Given the description of an element on the screen output the (x, y) to click on. 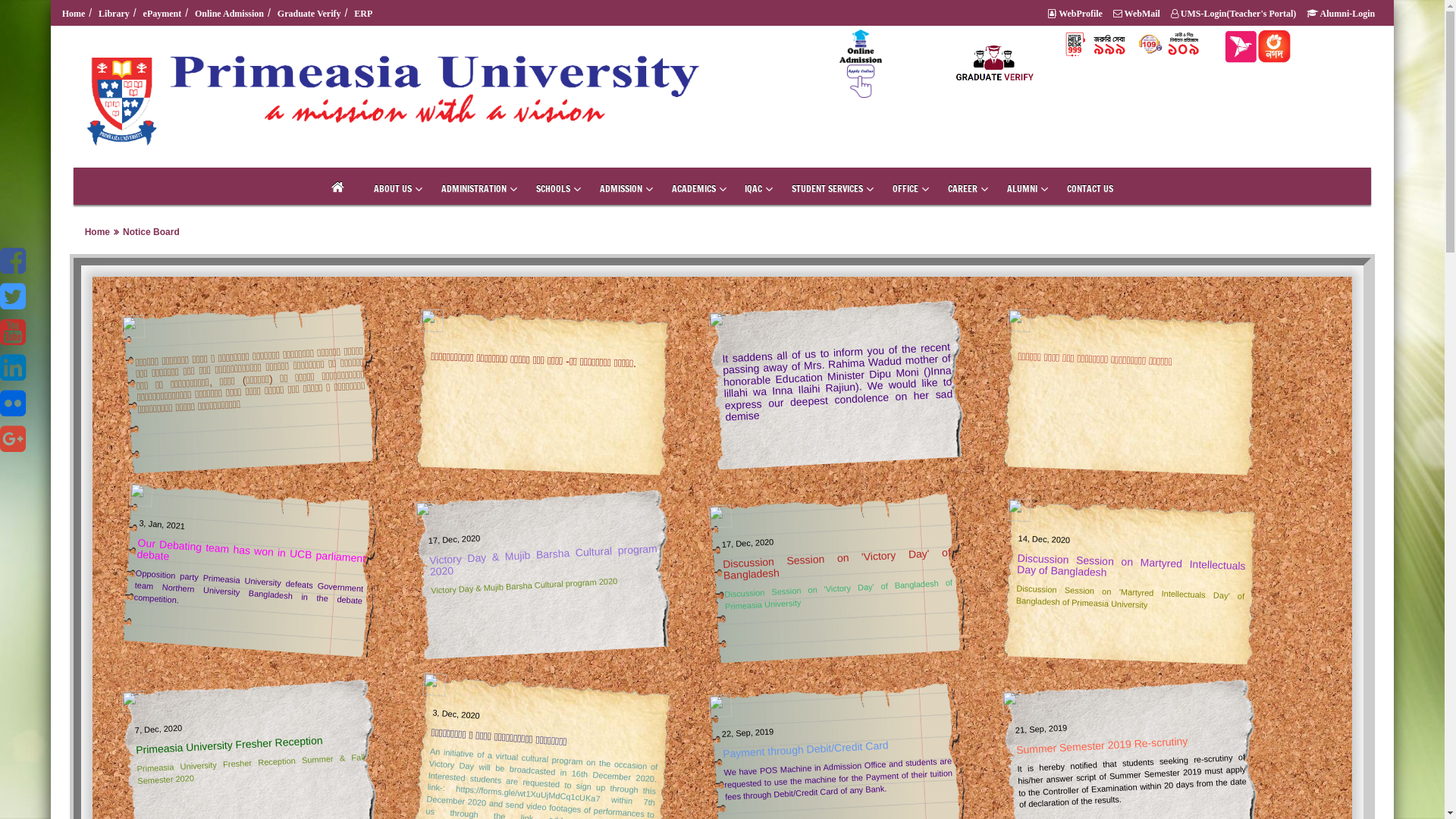
WebProfile Element type: text (1077, 13)
Graduate Verify Element type: text (311, 13)
ADMISSION Element type: text (620, 188)
ACADEMICS Element type: text (693, 188)
Home Element type: text (75, 13)
ALUMNI Element type: text (1022, 188)
CAREER Element type: text (962, 188)
WebMail Element type: text (1138, 13)
Notice Board Element type: text (150, 231)
CONTACT US Element type: text (1089, 188)
SCHOOLS Element type: text (553, 188)
OFFICE Element type: text (905, 188)
ePayment Element type: text (164, 13)
Home Element type: text (96, 231)
STUDENT SERVICES Element type: text (826, 188)
ADMINISTRATION Element type: text (473, 188)
ERP Element type: text (365, 13)
UMS-Login(Teacher's Portal) Element type: text (1235, 13)
IQAC Element type: text (753, 188)
Alumni-Login Element type: text (1342, 13)
Online Admission Element type: text (230, 13)
ABOUT US Element type: text (392, 188)
Library Element type: text (115, 13)
